Given the description of an element on the screen output the (x, y) to click on. 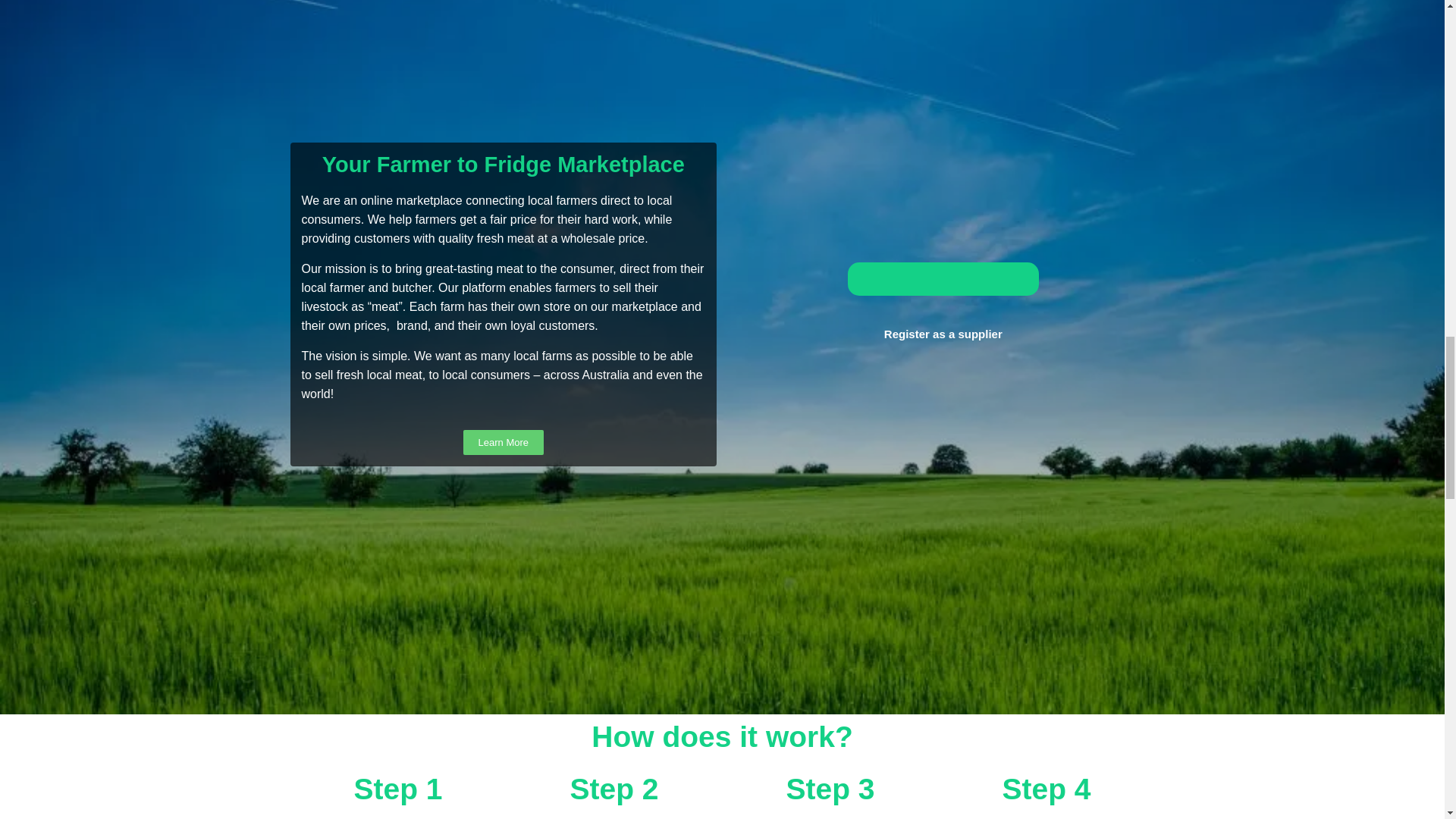
Learn More (503, 442)
Register as a supplier (943, 333)
